Given the description of an element on the screen output the (x, y) to click on. 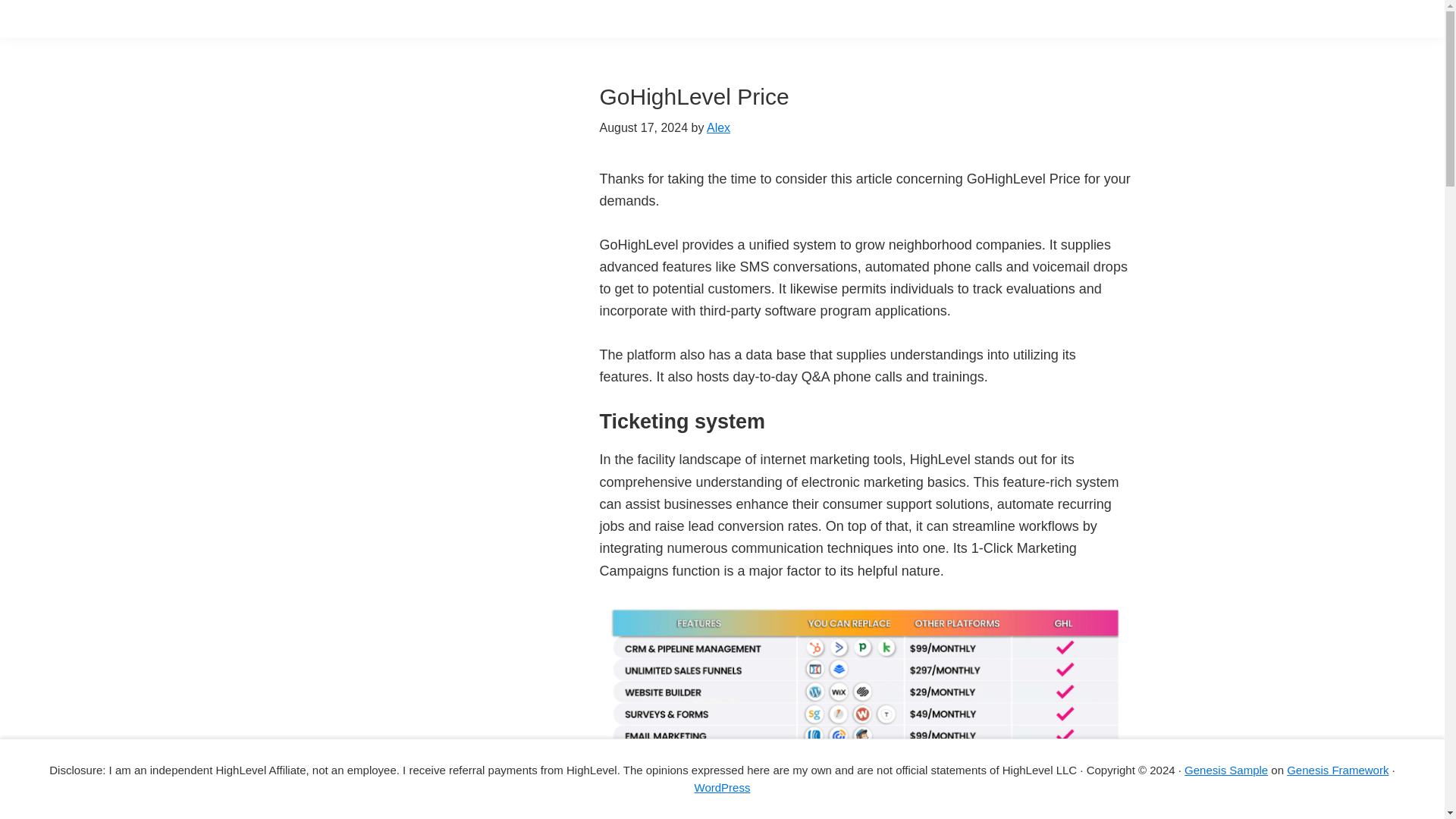
Genesis Sample (1226, 769)
Genesis Framework (1338, 769)
WordPress (722, 787)
Alex (718, 127)
